Given the description of an element on the screen output the (x, y) to click on. 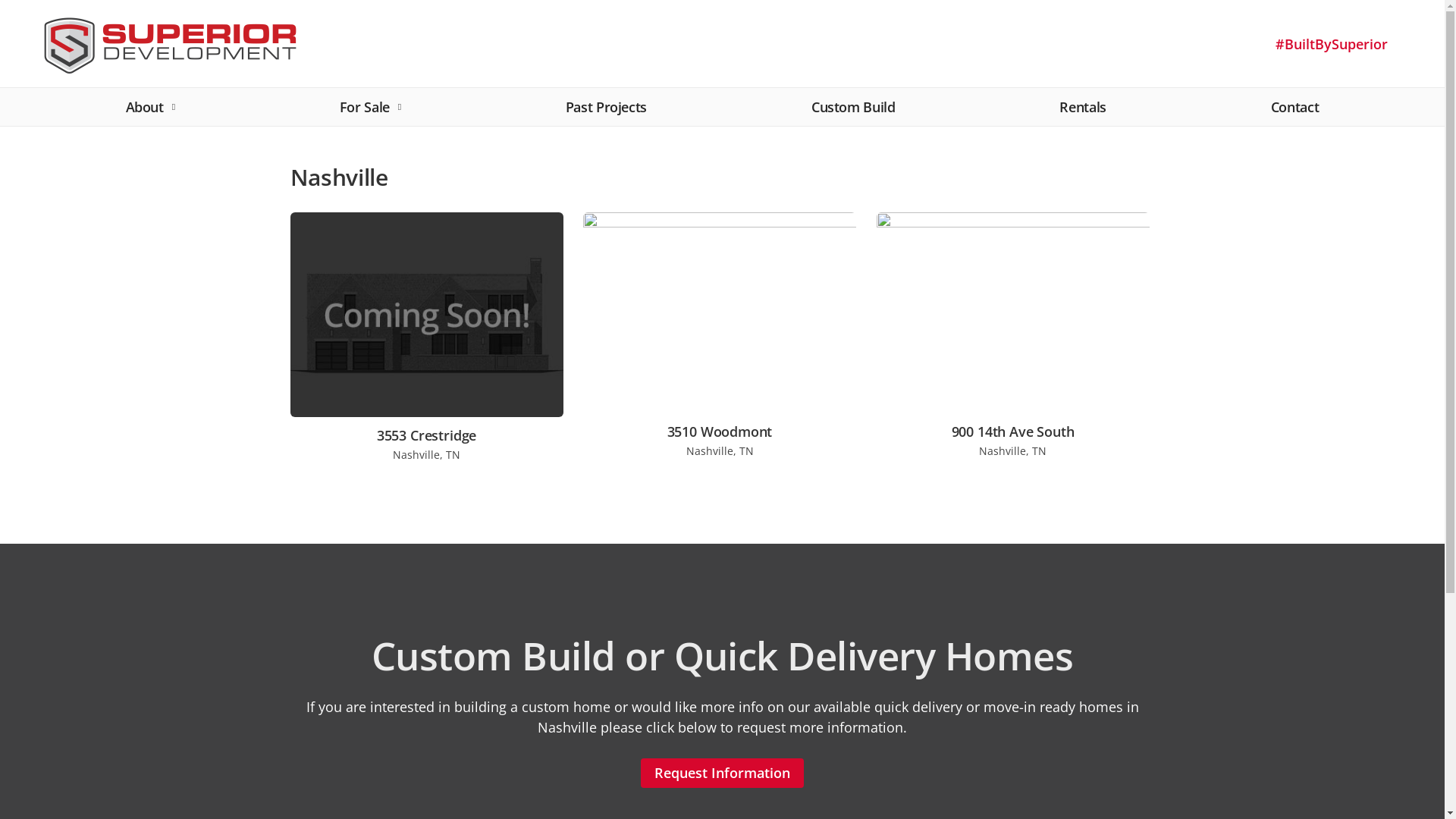
About Element type: text (150, 112)
Rentals Element type: text (1082, 112)
3510 Woodmont Element type: text (719, 431)
Request Information Element type: text (721, 772)
For Sale Element type: text (370, 112)
900 14th Ave South Element type: text (1012, 431)
Contact Element type: text (1294, 112)
Custom Build Element type: text (853, 112)
Past Projects Element type: text (605, 112)
#BuiltBySuperior Element type: text (1331, 43)
3553 Crestridge Element type: text (425, 435)
Request Information Element type: text (721, 773)
